Given the description of an element on the screen output the (x, y) to click on. 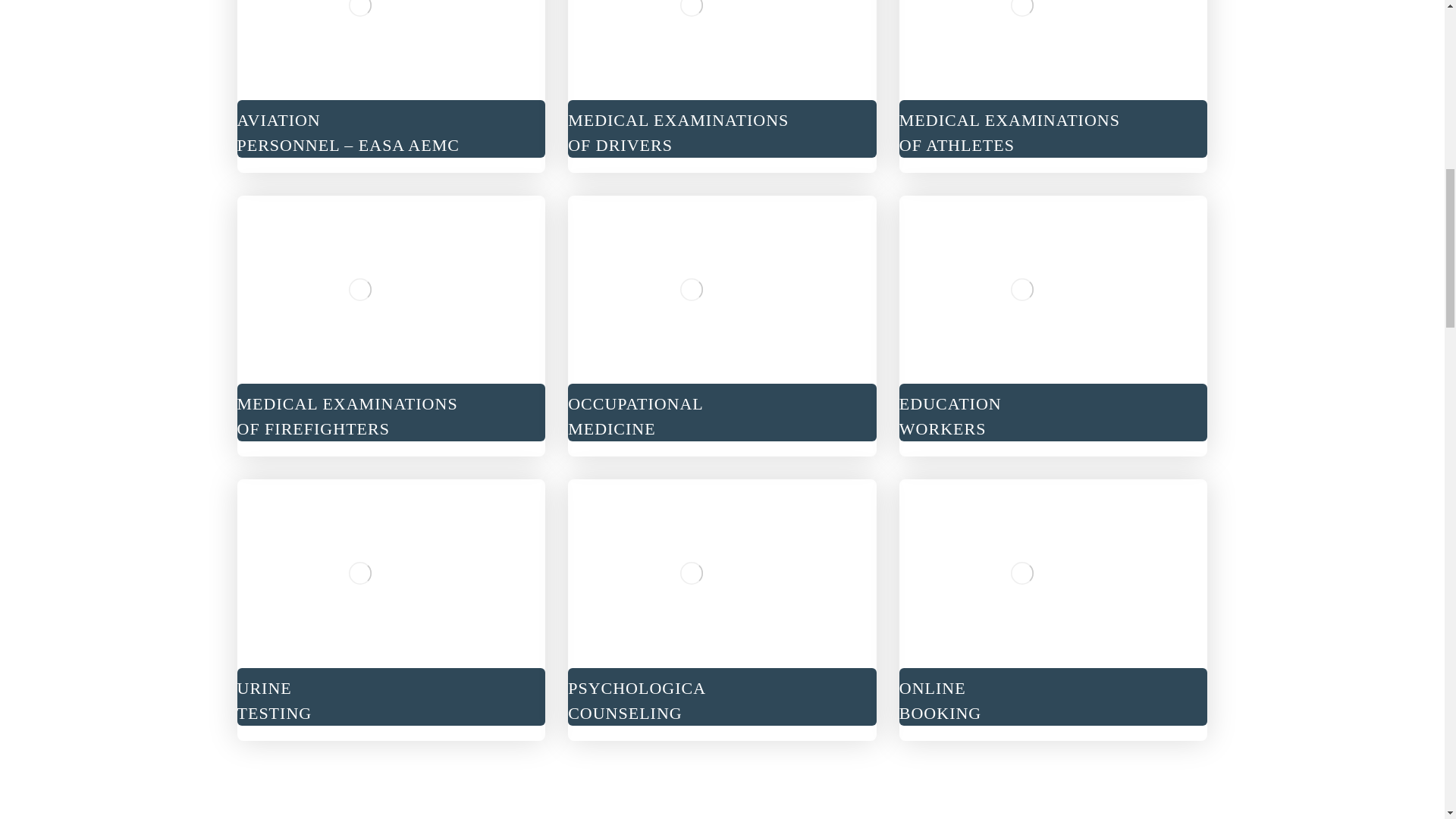
Testiranje urina na psihoaktivne supstance (359, 573)
Psychological counseling (721, 610)
Medicina rada (389, 326)
Medical examinations of drivers (690, 289)
Psihologijsko savjetovanje (721, 86)
EASA AeMC aircrew examinations (690, 573)
